Given the description of an element on the screen output the (x, y) to click on. 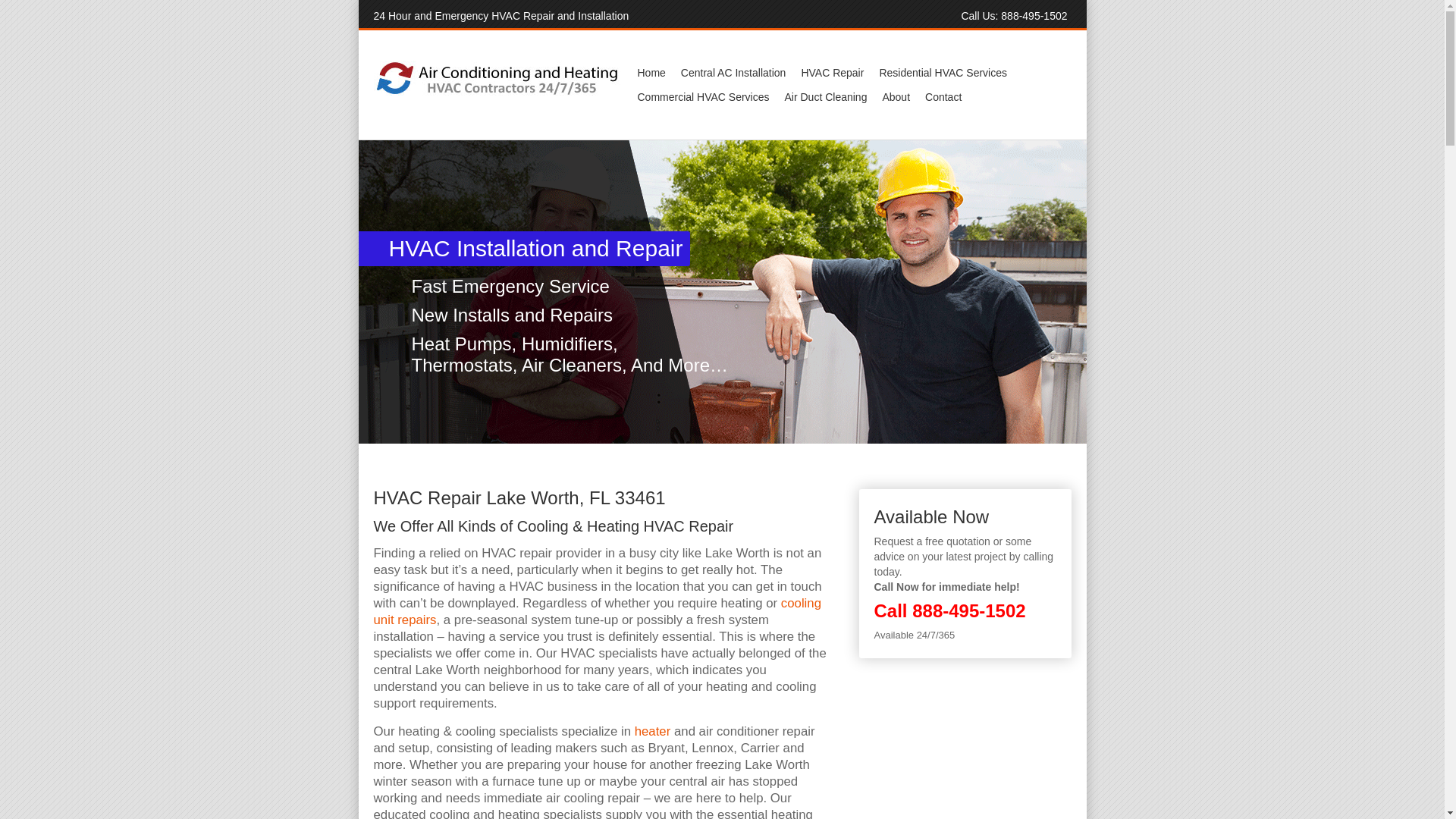
Residential HVAC Services (942, 72)
Central AC Installation (733, 72)
888-495-1502 (1034, 15)
888-495-1502 (968, 610)
Contact (943, 96)
Air Duct Cleaning (824, 96)
HVAC Installation and Repair (179, 291)
heater (652, 730)
cooling unit repairs (596, 611)
Home (650, 72)
About (895, 96)
Commercial HVAC Services (702, 96)
HVAC Repair (831, 72)
